Given the description of an element on the screen output the (x, y) to click on. 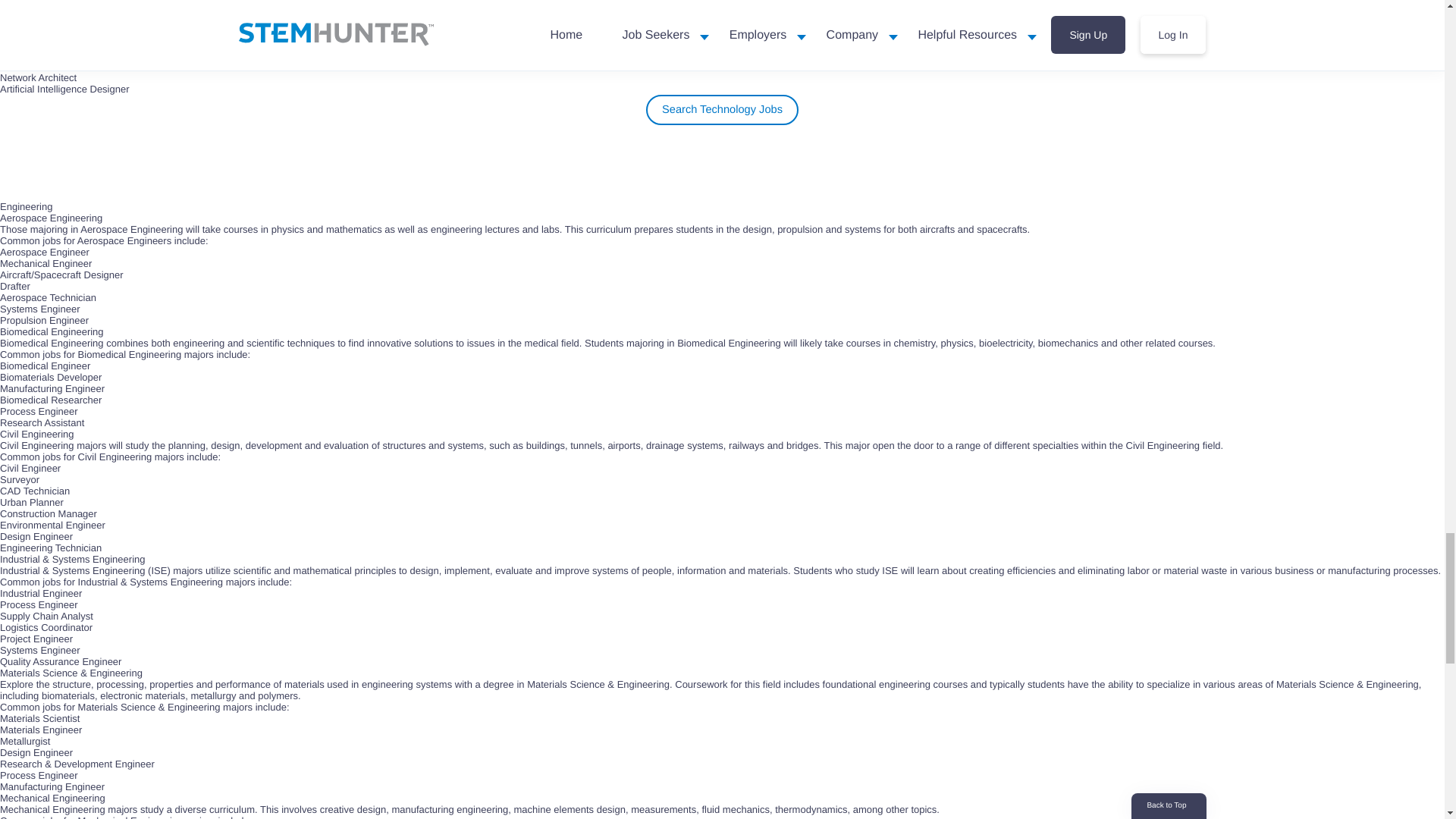
Search Technology Jobs (722, 110)
